Given the description of an element on the screen output the (x, y) to click on. 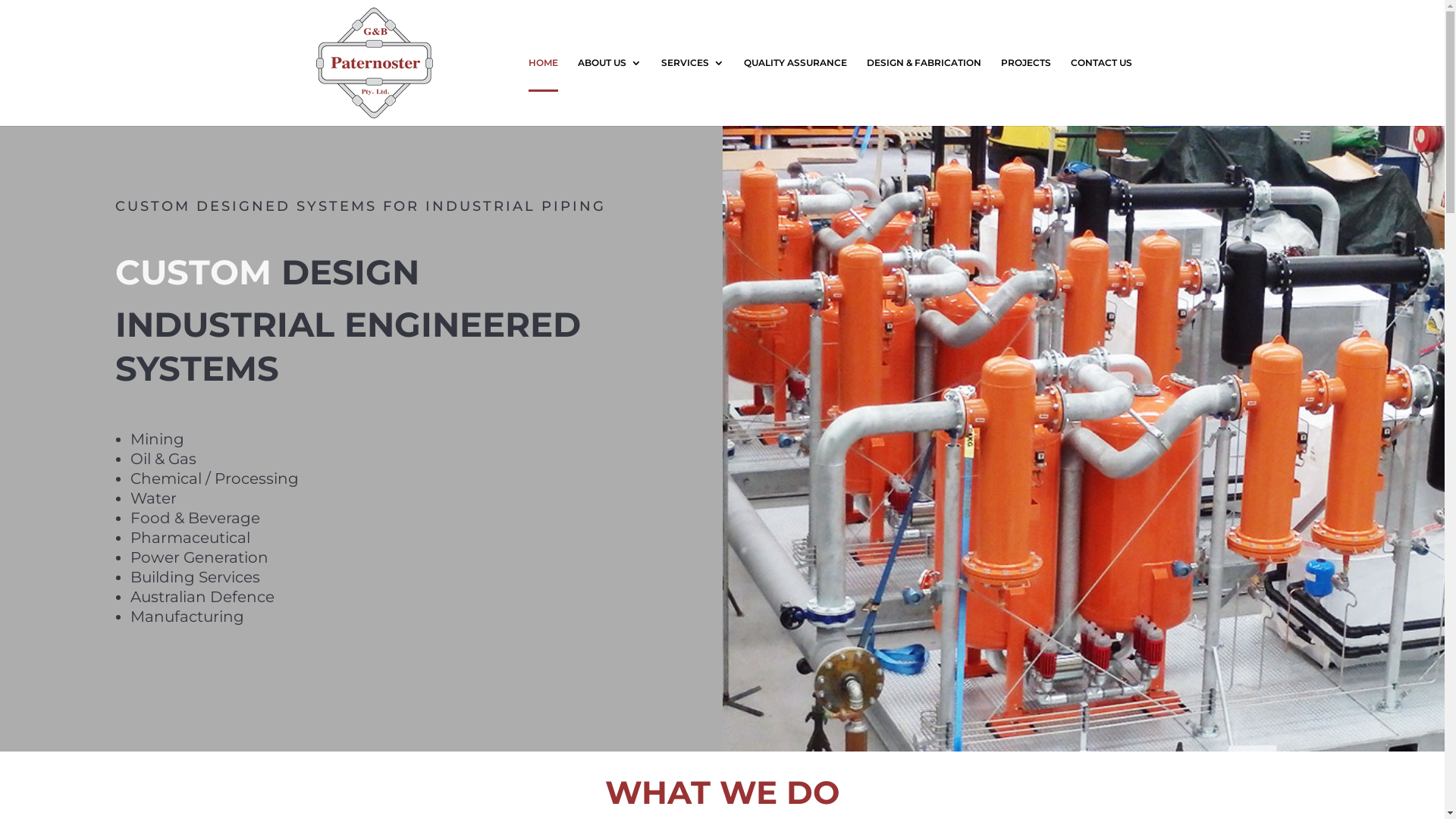
HOME Element type: text (542, 91)
CONTACT US Element type: text (1101, 91)
QUALITY ASSURANCE Element type: text (794, 91)
ABOUT US Element type: text (609, 91)
PROJECTS Element type: text (1026, 91)
SERVICES Element type: text (692, 91)
DESIGN & FABRICATION Element type: text (923, 91)
